Given the description of an element on the screen output the (x, y) to click on. 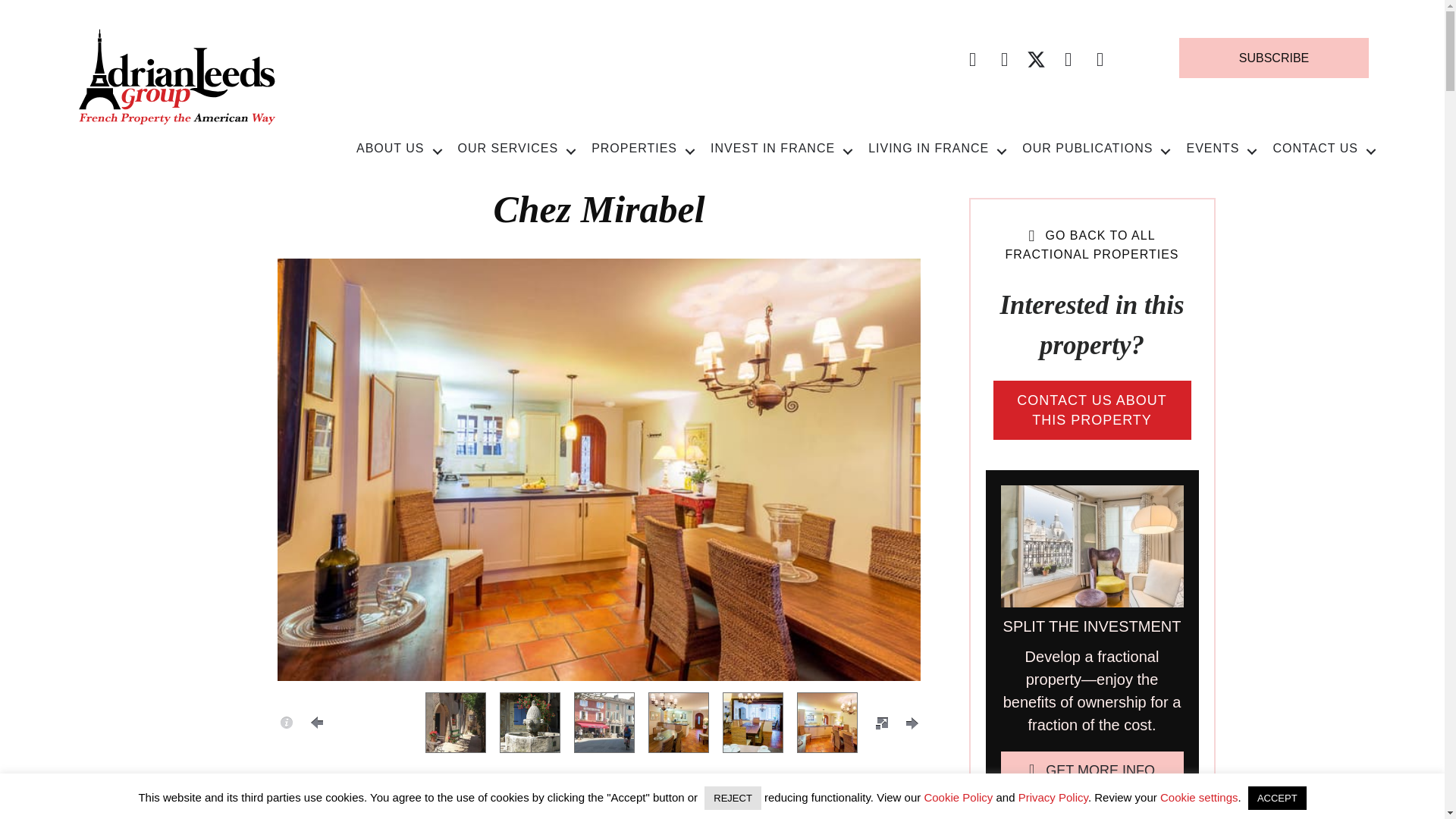
SUBSCRIBE (1273, 57)
ABOUT US (399, 147)
LIVING IN FRANCE (937, 147)
OUR SERVICES (517, 147)
Instagram (1068, 59)
Facebook (972, 59)
PROPERTIES (643, 147)
LinkedIn (1099, 59)
YouTube (1004, 59)
INVEST IN FRANCE (781, 147)
